Given the description of an element on the screen output the (x, y) to click on. 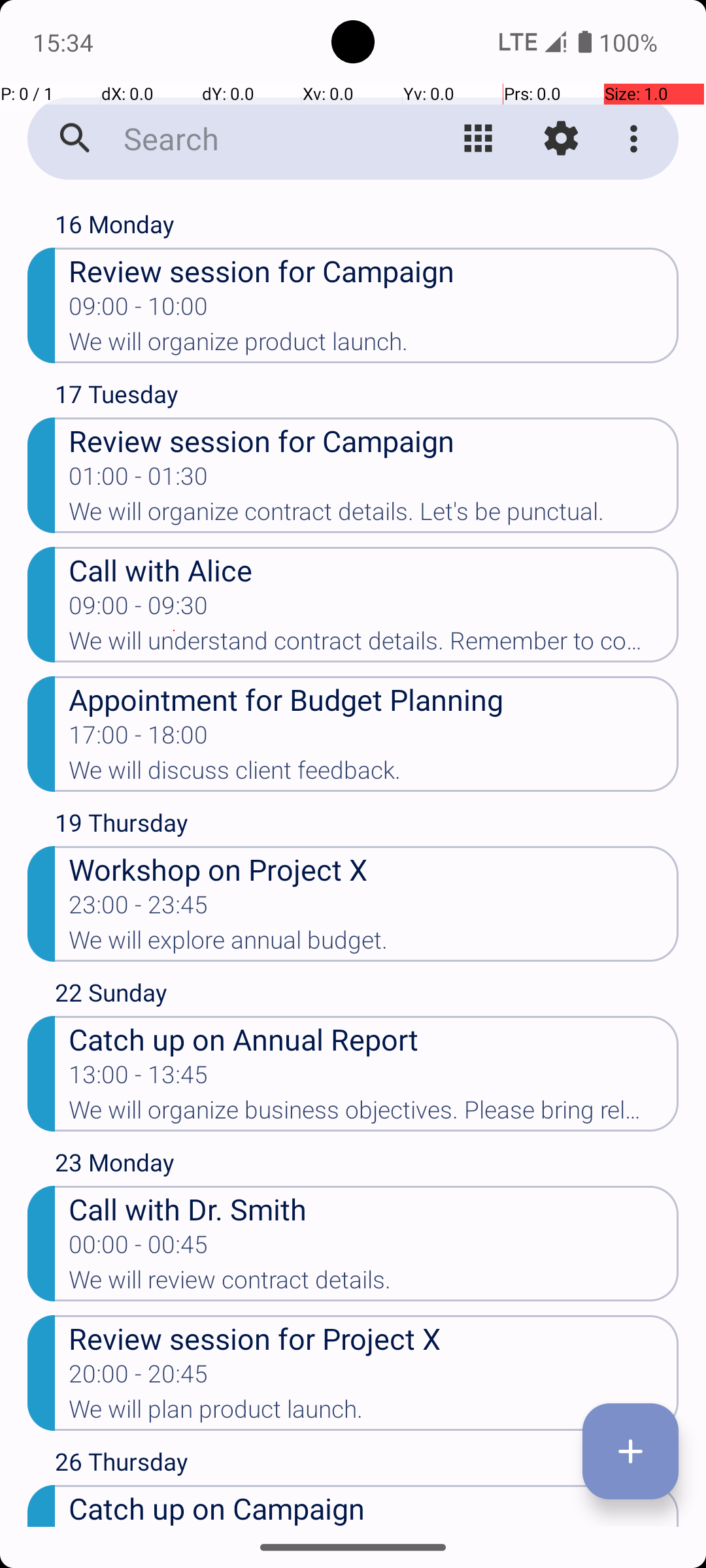
22 Sunday Element type: android.widget.TextView (366, 995)
23 Monday Element type: android.widget.TextView (366, 1165)
26 Thursday Element type: android.widget.TextView (366, 1464)
09:00 - 10:00 Element type: android.widget.TextView (137, 309)
We will organize product launch. Element type: android.widget.TextView (373, 345)
01:00 - 01:30 Element type: android.widget.TextView (137, 479)
We will organize contract details. Let's be punctual. Element type: android.widget.TextView (373, 515)
09:00 - 09:30 Element type: android.widget.TextView (137, 609)
We will understand contract details. Remember to confirm attendance. Element type: android.widget.TextView (373, 644)
17:00 - 18:00 Element type: android.widget.TextView (137, 738)
We will discuss client feedback. Element type: android.widget.TextView (373, 773)
Workshop on Project X Element type: android.widget.TextView (373, 868)
23:00 - 23:45 Element type: android.widget.TextView (137, 908)
We will explore annual budget. Element type: android.widget.TextView (373, 943)
13:00 - 13:45 Element type: android.widget.TextView (137, 1078)
We will organize business objectives. Please bring relevant documents. Element type: android.widget.TextView (373, 1113)
00:00 - 00:45 Element type: android.widget.TextView (137, 1248)
We will review contract details. Element type: android.widget.TextView (373, 1283)
20:00 - 20:45 Element type: android.widget.TextView (137, 1377)
We will plan product launch. Element type: android.widget.TextView (373, 1412)
